Given the description of an element on the screen output the (x, y) to click on. 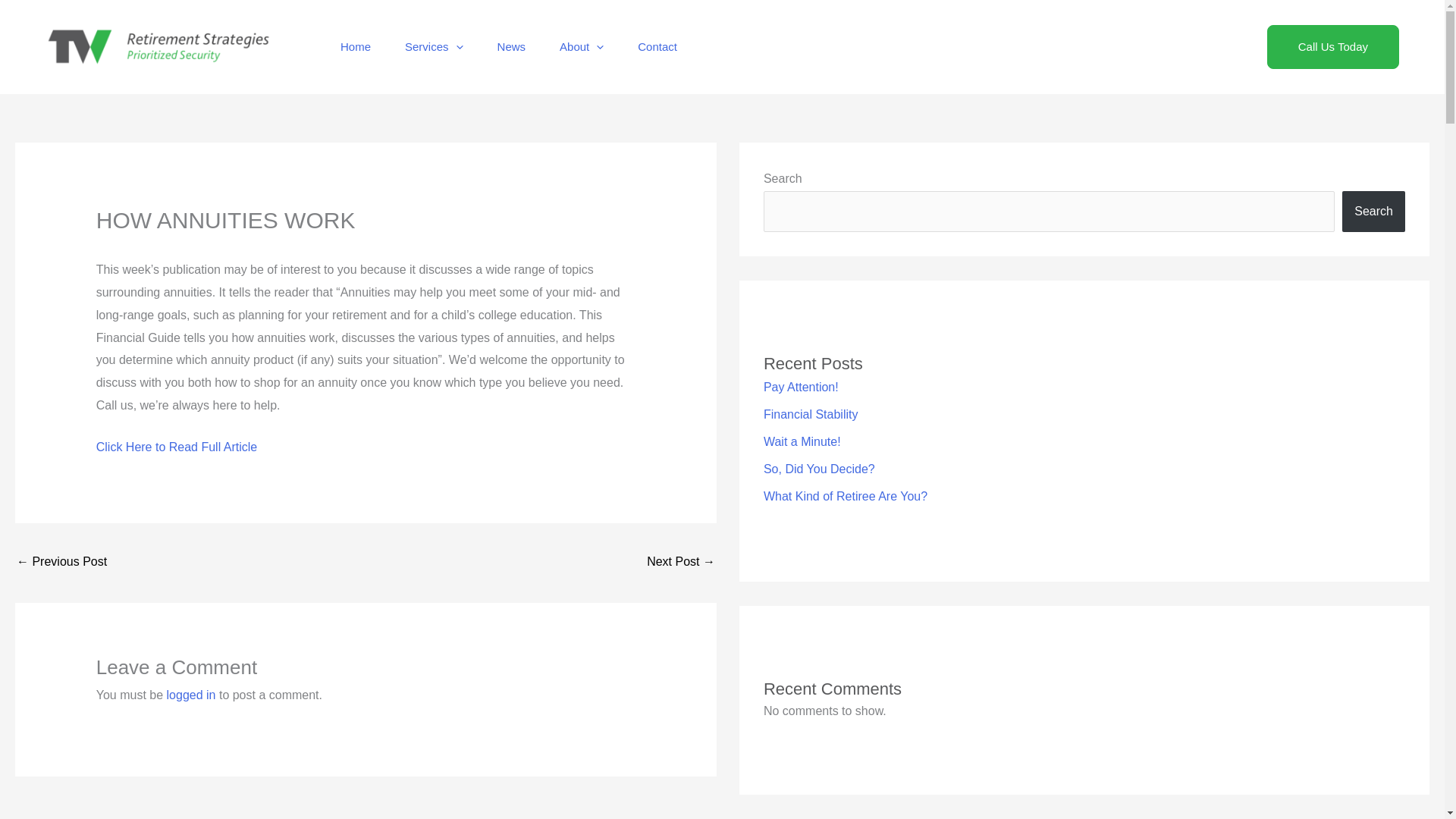
Call Us Today (1332, 46)
Contact (663, 46)
WHAT OLDER ADULTS NEED TO KNOW ABOUT MONEY (61, 562)
DEBUNKING MYTHS (680, 562)
News (517, 46)
Services (439, 46)
Home (361, 46)
About (587, 46)
